Given the description of an element on the screen output the (x, y) to click on. 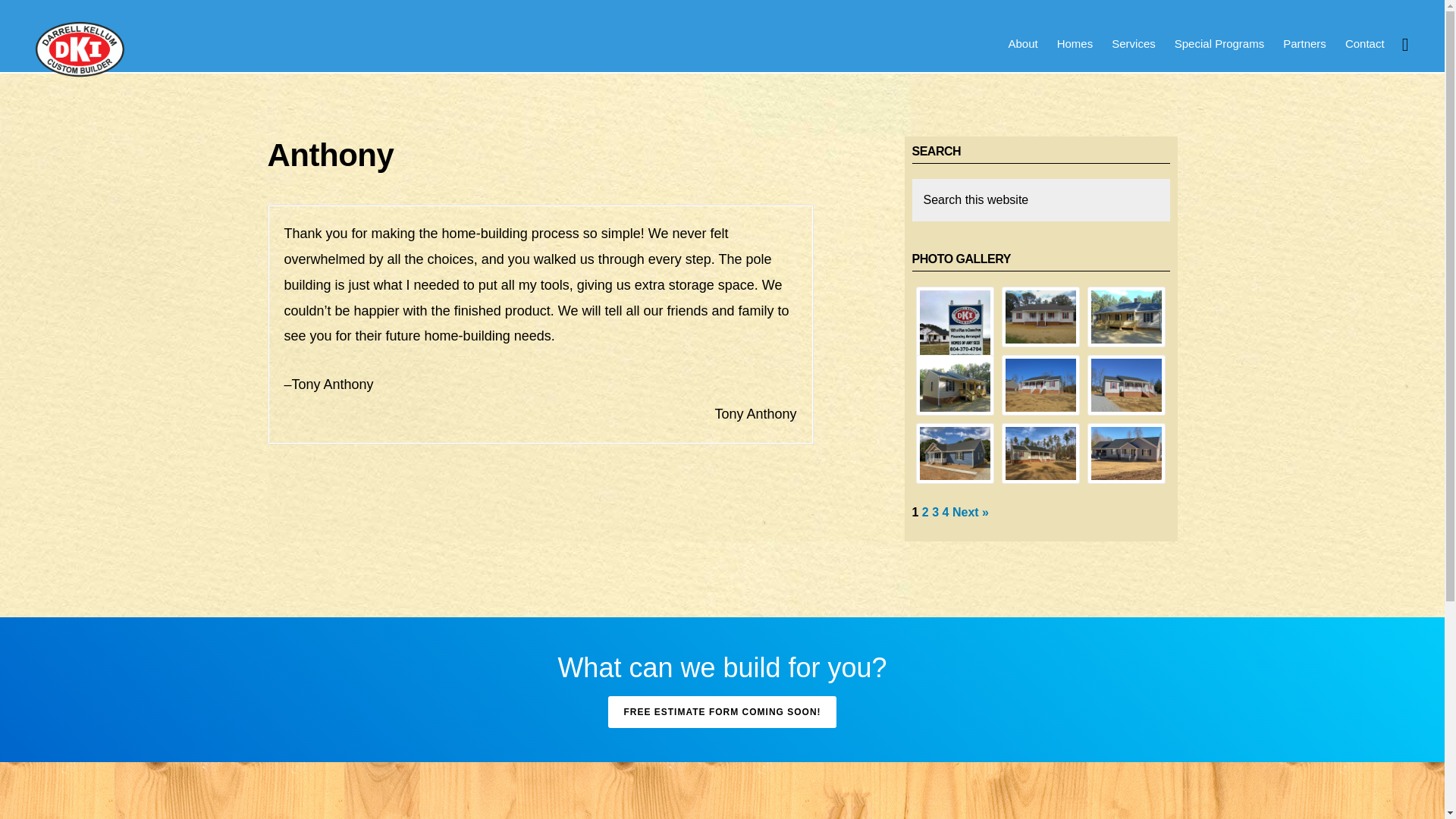
Homes (1074, 43)
Partners (1304, 43)
Special Programs (1219, 43)
dki-photo-2 (1040, 316)
dki-photo-8 (1040, 452)
DARRELL KELLUM, INC. (80, 48)
dki-photo-5 (1040, 384)
dki-photo-6 (1125, 384)
Contact (1364, 43)
Services (1133, 43)
About (1022, 43)
dki-photo-4 (954, 384)
dki-photo-3 (1125, 316)
dki-photo-7 (954, 452)
